Given the description of an element on the screen output the (x, y) to click on. 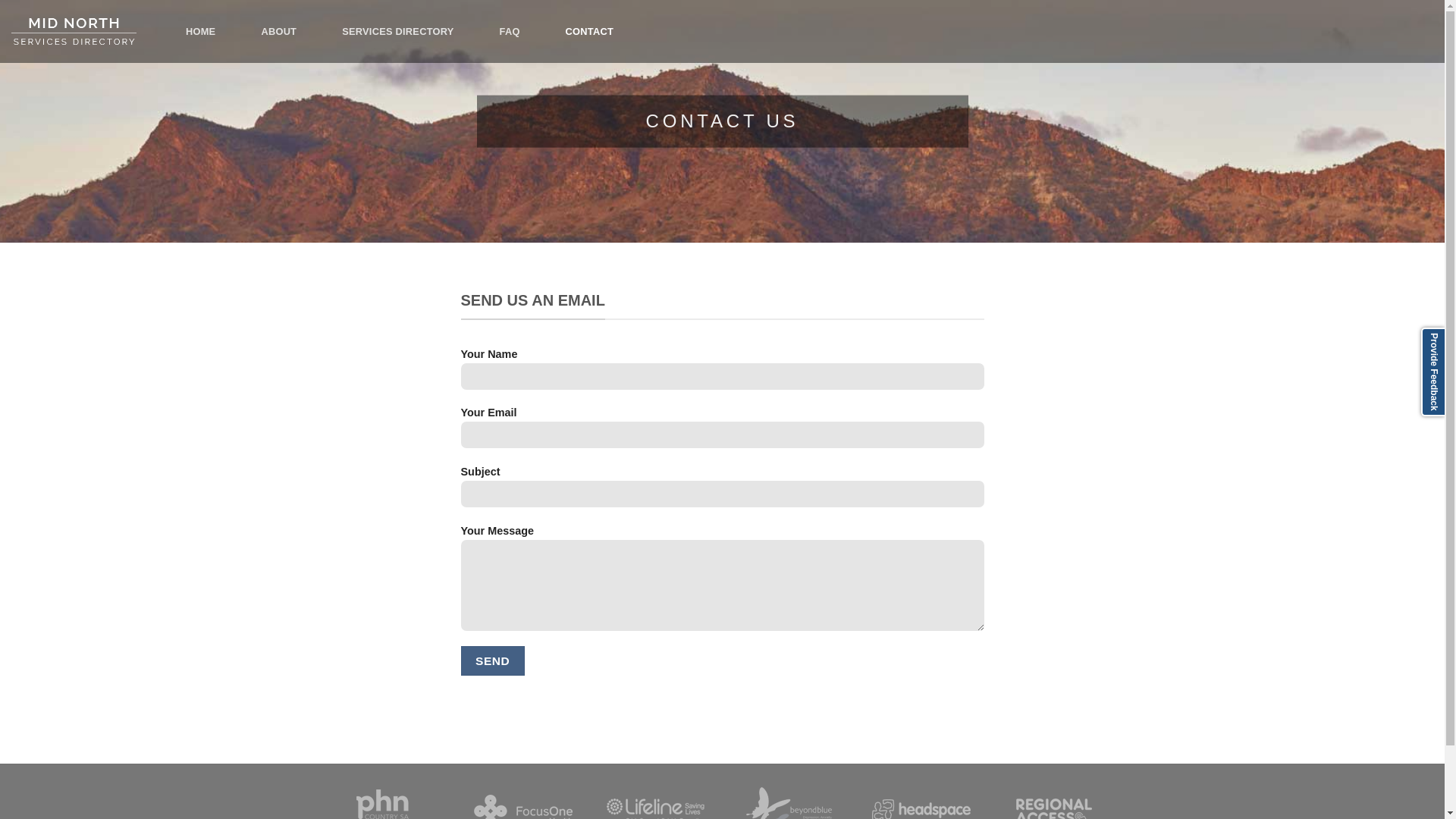
CONTACT Element type: text (589, 31)
FAQ Element type: text (509, 31)
Mid North - Mid North Services Directory Element type: hover (87, 31)
ABOUT Element type: text (278, 31)
HOME Element type: text (200, 31)
Send Element type: text (492, 660)
Skip to content Element type: text (0, 0)
SERVICES DIRECTORY Element type: text (397, 31)
